Given the description of an element on the screen output the (x, y) to click on. 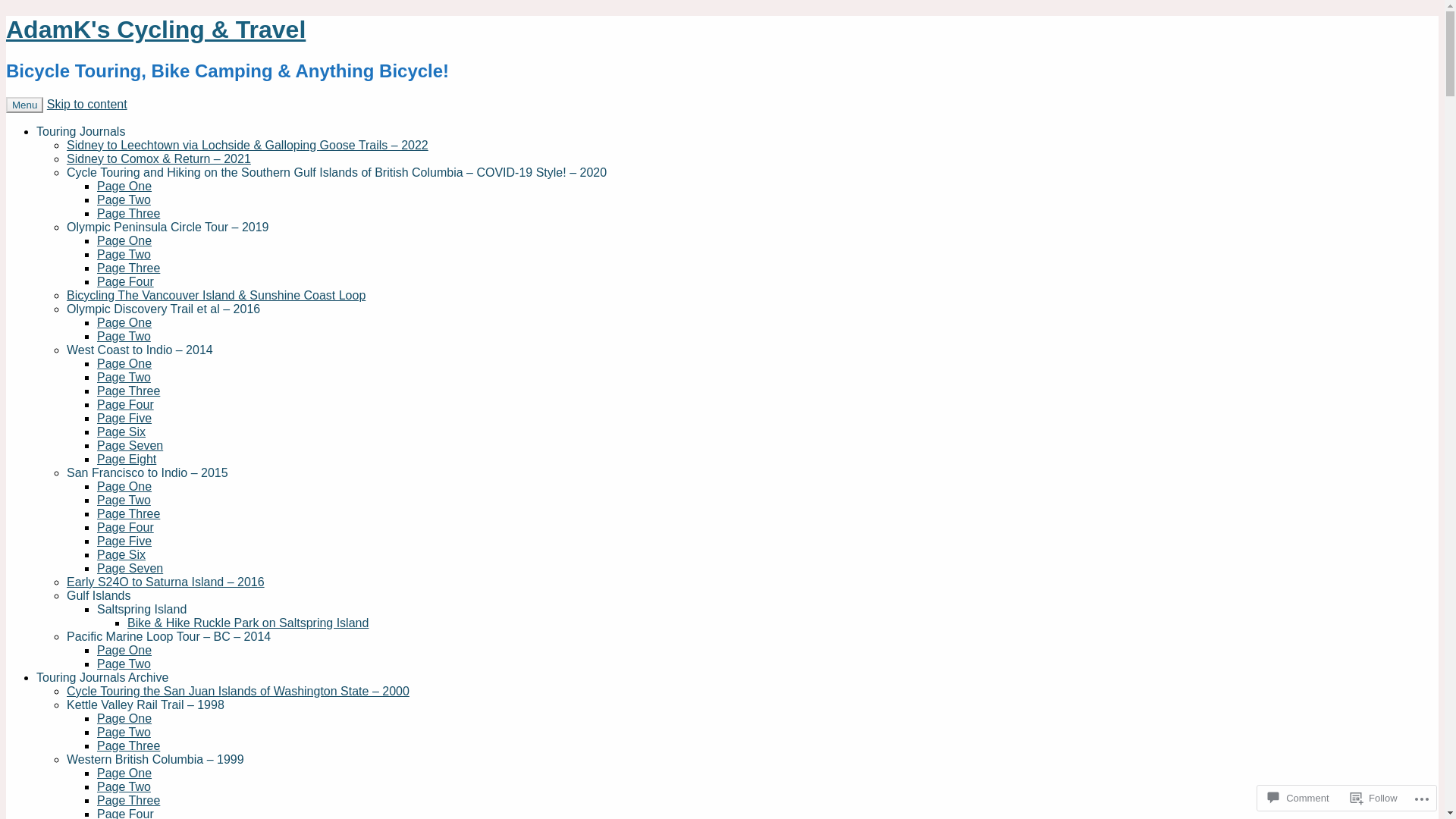
Touring Journals Element type: text (80, 131)
Saltspring Island Element type: text (141, 608)
Page Five Element type: text (124, 540)
Page One Element type: text (124, 649)
Page Eight Element type: text (126, 458)
Page One Element type: text (124, 322)
Gulf Islands Element type: text (98, 595)
Page Four Element type: text (125, 526)
Page Six Element type: text (121, 431)
Page Two Element type: text (123, 663)
Page Three Element type: text (128, 745)
Bicycling The Vancouver Island & Sunshine Coast Loop Element type: text (215, 294)
Page Four Element type: text (125, 404)
Page Four Element type: text (125, 281)
Bike & Hike Ruckle Park on Saltspring Island Element type: text (247, 622)
Page Six Element type: text (121, 554)
Page Three Element type: text (128, 799)
Page One Element type: text (124, 185)
Page Five Element type: text (124, 417)
Page One Element type: text (124, 718)
Page Three Element type: text (128, 267)
Page Three Element type: text (128, 390)
Touring Journals Archive Element type: text (102, 677)
Page Seven Element type: text (130, 567)
Page Two Element type: text (123, 786)
AdamK's Cycling & Travel Element type: text (155, 29)
Skip to content Element type: text (87, 103)
Page Seven Element type: text (130, 445)
Page Two Element type: text (123, 253)
Follow Element type: text (1373, 797)
Page Two Element type: text (123, 731)
Page Two Element type: text (123, 499)
Page Two Element type: text (123, 199)
Page Three Element type: text (128, 513)
Comment Element type: text (1297, 797)
Page Two Element type: text (123, 335)
Page One Element type: text (124, 363)
Page One Element type: text (124, 486)
Page One Element type: text (124, 240)
Page Three Element type: text (128, 213)
Page Two Element type: text (123, 376)
Menu Element type: text (24, 104)
Page One Element type: text (124, 772)
